Given the description of an element on the screen output the (x, y) to click on. 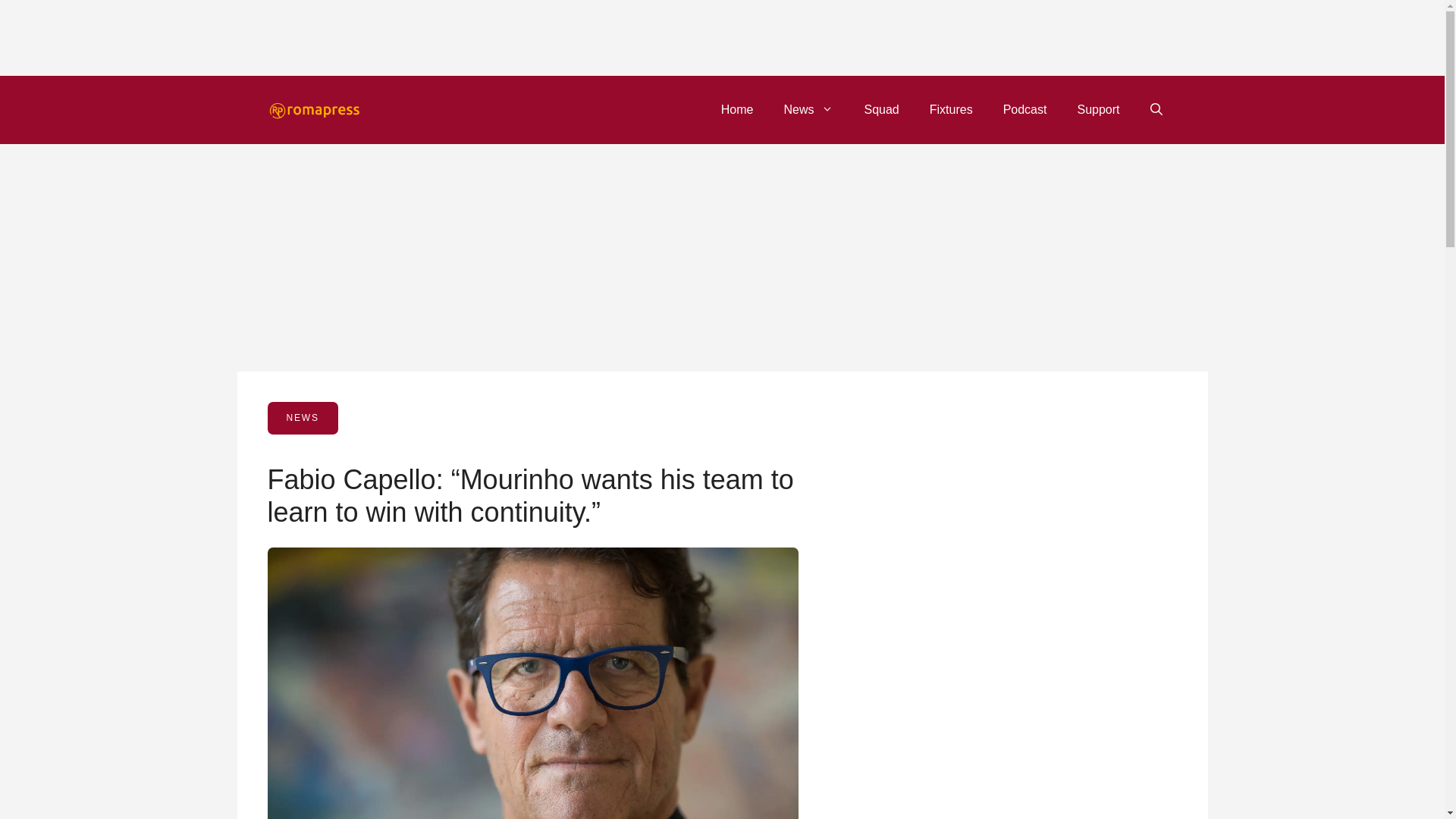
News (808, 109)
Support (1097, 109)
Home (737, 109)
Podcast (1025, 109)
Squad (881, 109)
Fixtures (951, 109)
